Given the description of an element on the screen output the (x, y) to click on. 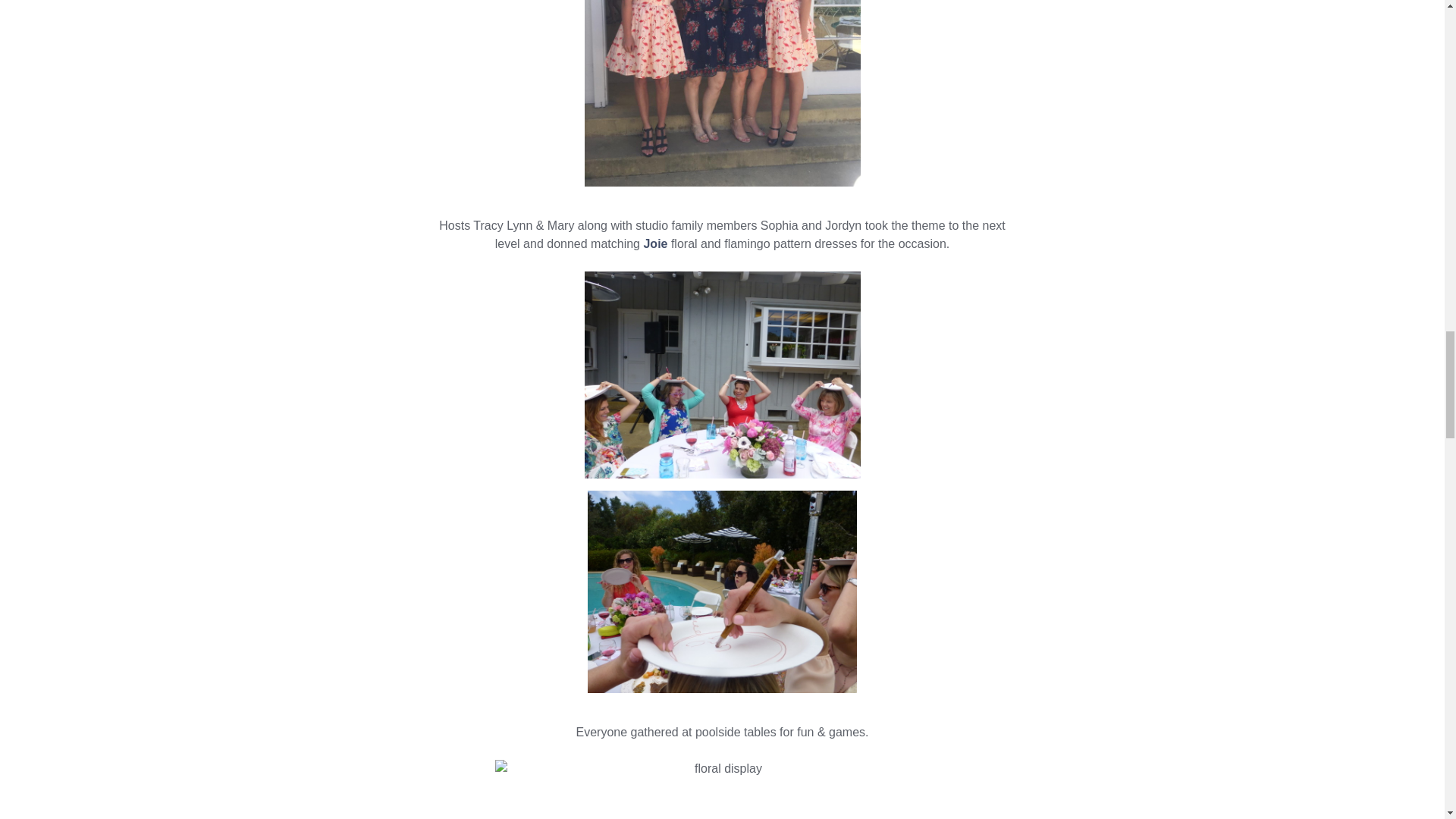
Joie (654, 243)
